Given the description of an element on the screen output the (x, y) to click on. 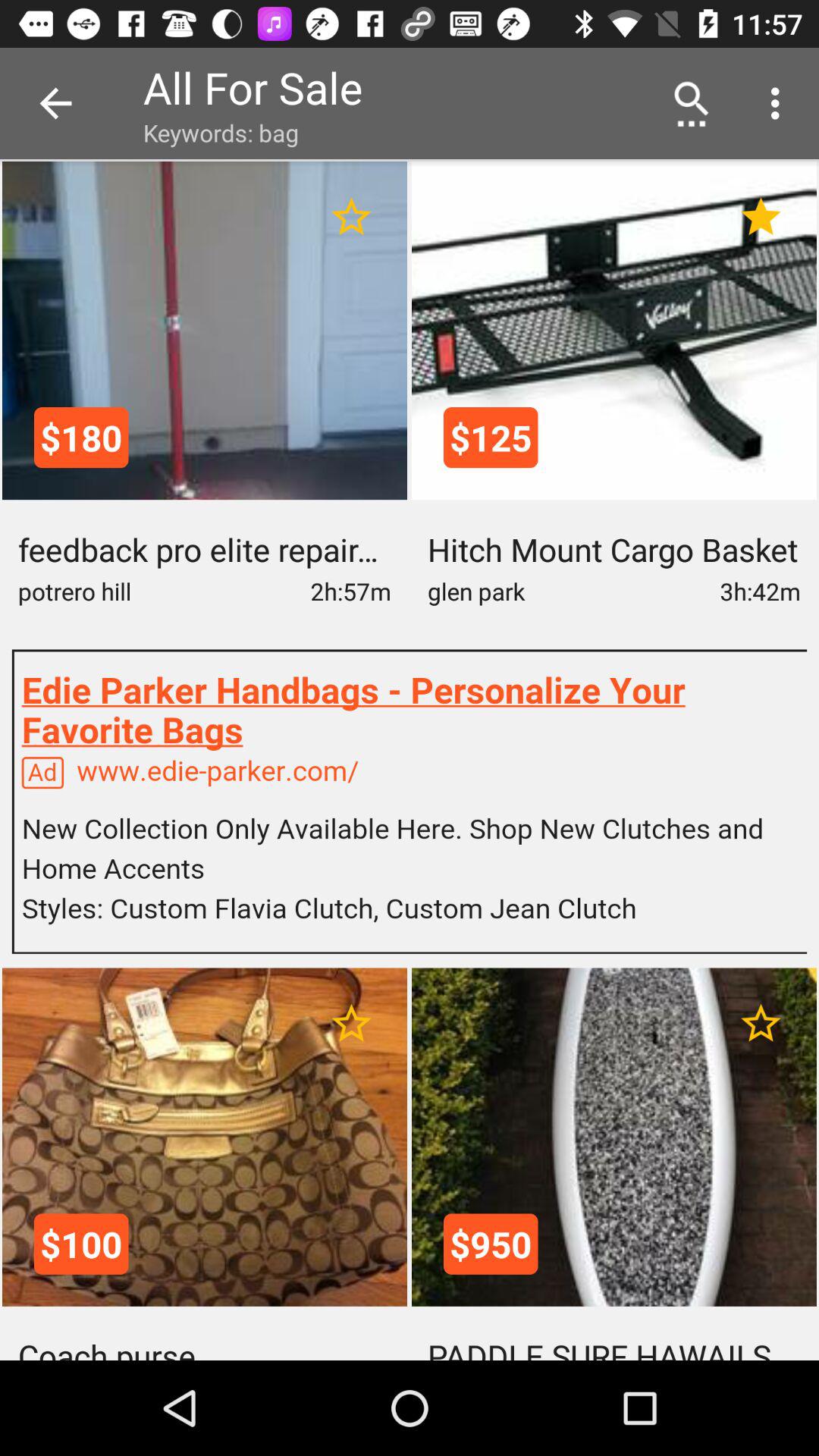
advertisement (409, 801)
